Given the description of an element on the screen output the (x, y) to click on. 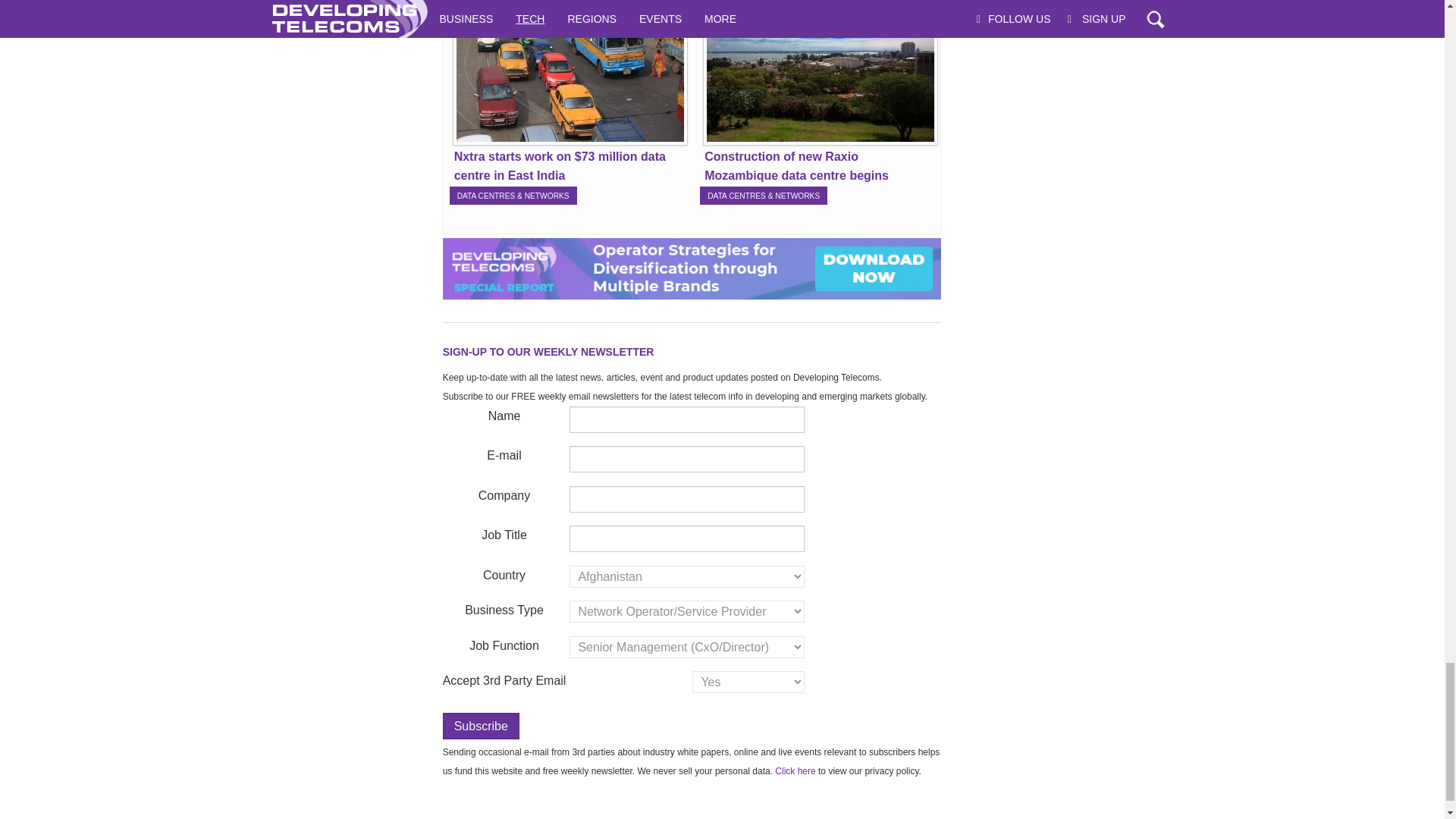
Subscribe (480, 725)
